Given the description of an element on the screen output the (x, y) to click on. 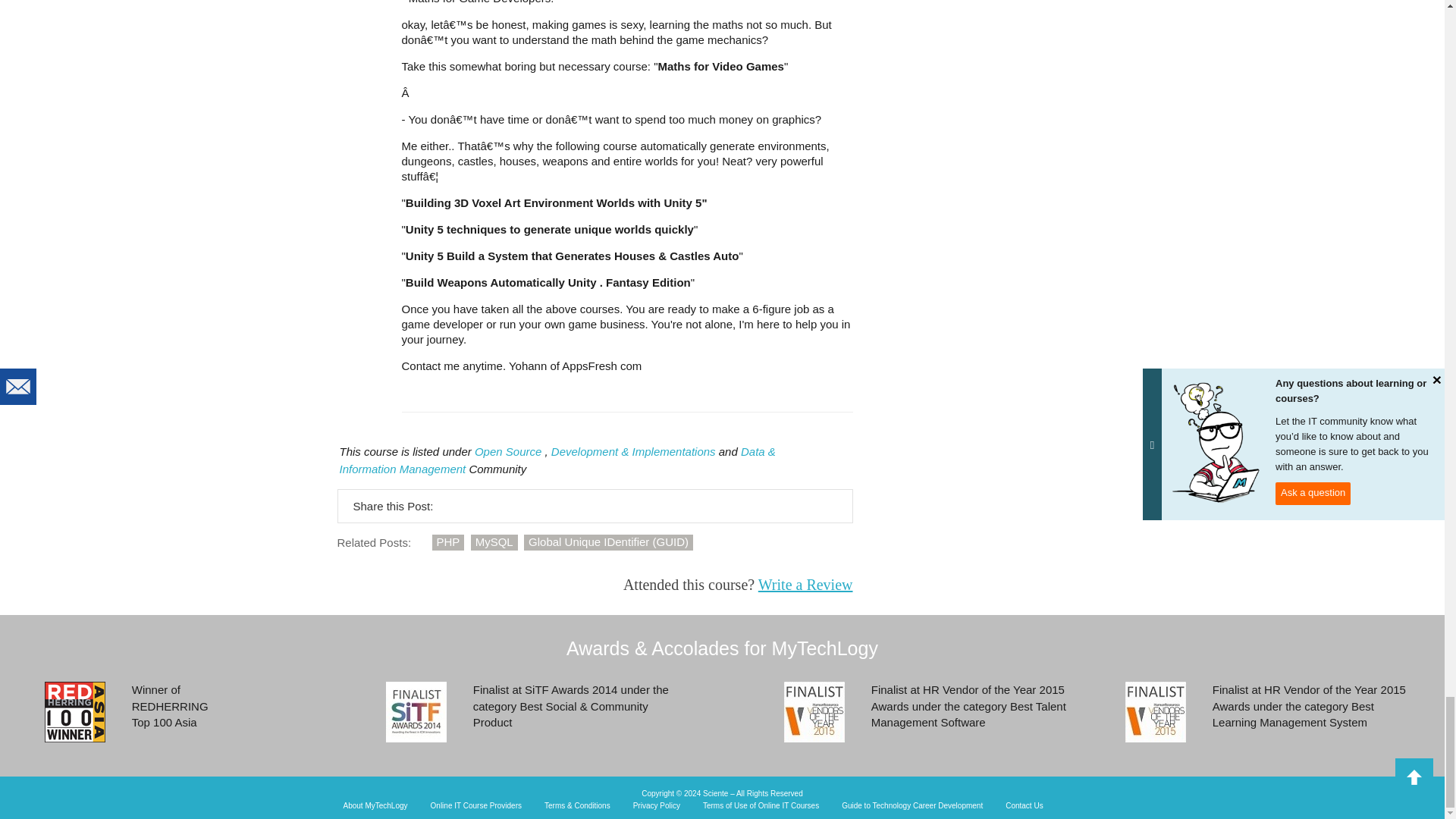
Privacy Policy (656, 805)
Guide to Technology Career Development (911, 805)
Contact Us (1024, 805)
Winner of REDHERRING Top 100 Asia (74, 711)
About MyTechLogy (374, 805)
Terms of Use of Online IT Courses (760, 805)
Online IT Course Providers (475, 805)
Write a Review (805, 584)
Open Source (507, 451)
